Given the description of an element on the screen output the (x, y) to click on. 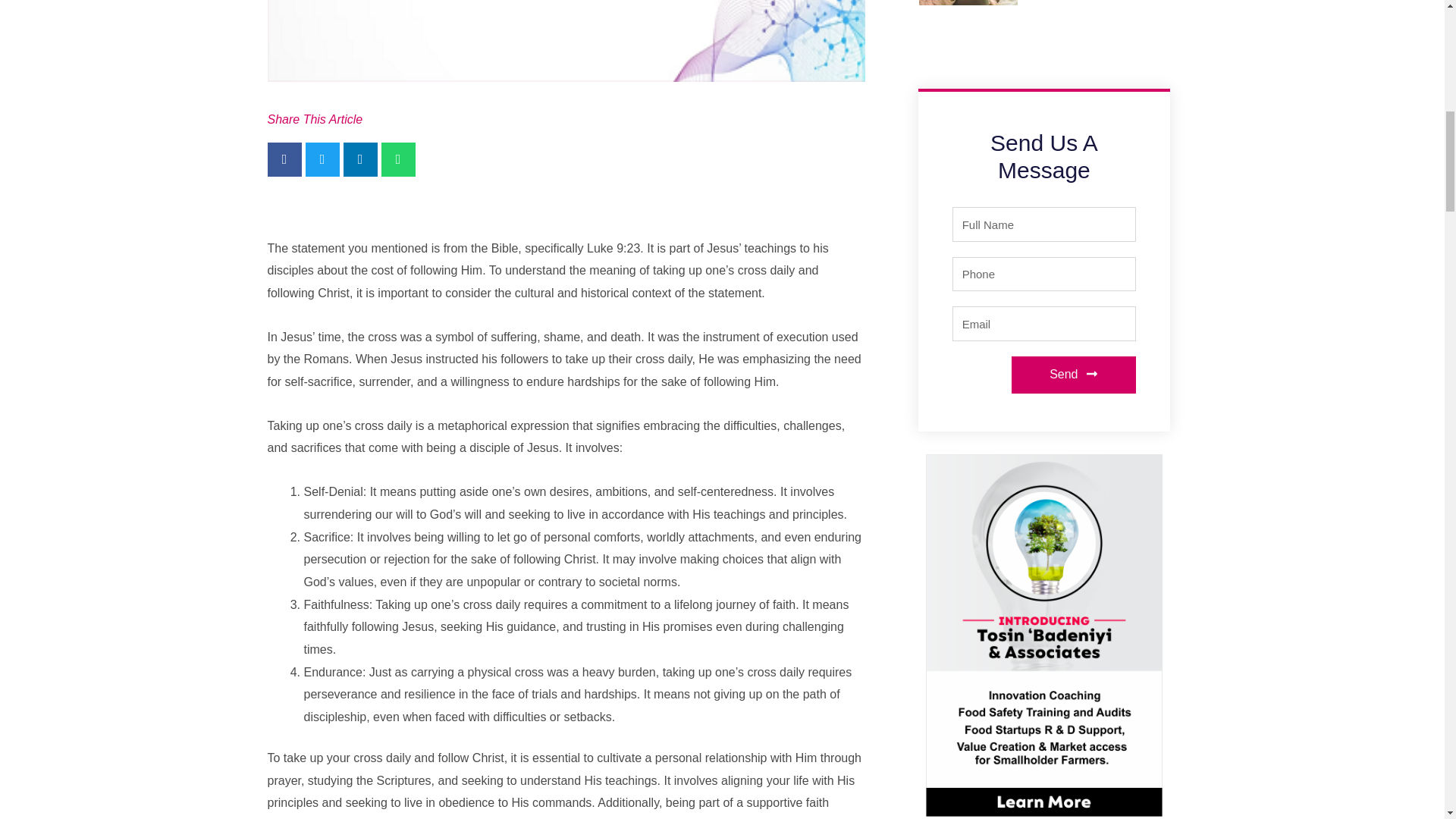
Send (1073, 374)
